Given the description of an element on the screen output the (x, y) to click on. 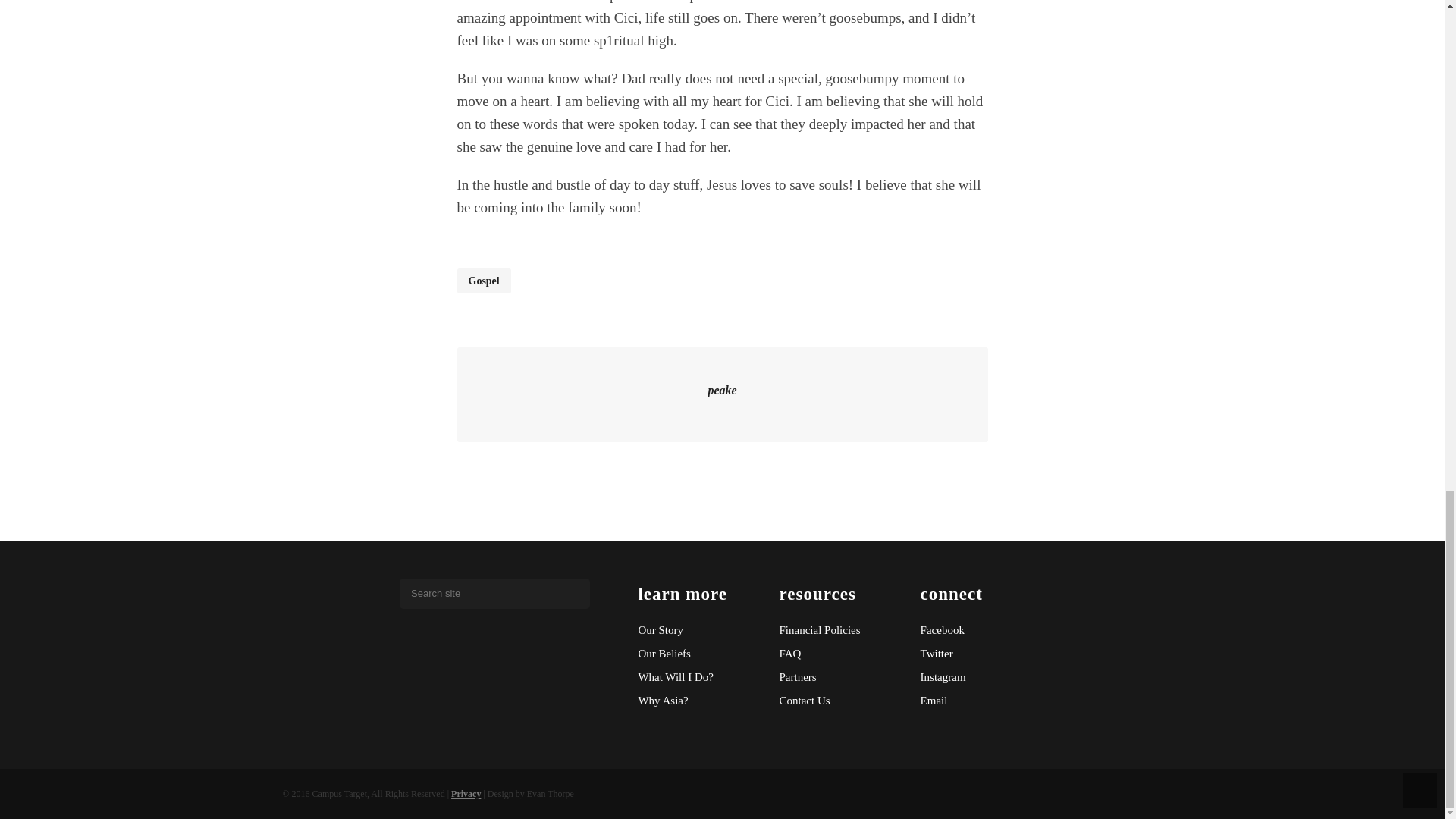
Twitter (979, 653)
peake (722, 390)
Gospel (484, 280)
Facebook (979, 630)
Instagram (979, 677)
